Given the description of an element on the screen output the (x, y) to click on. 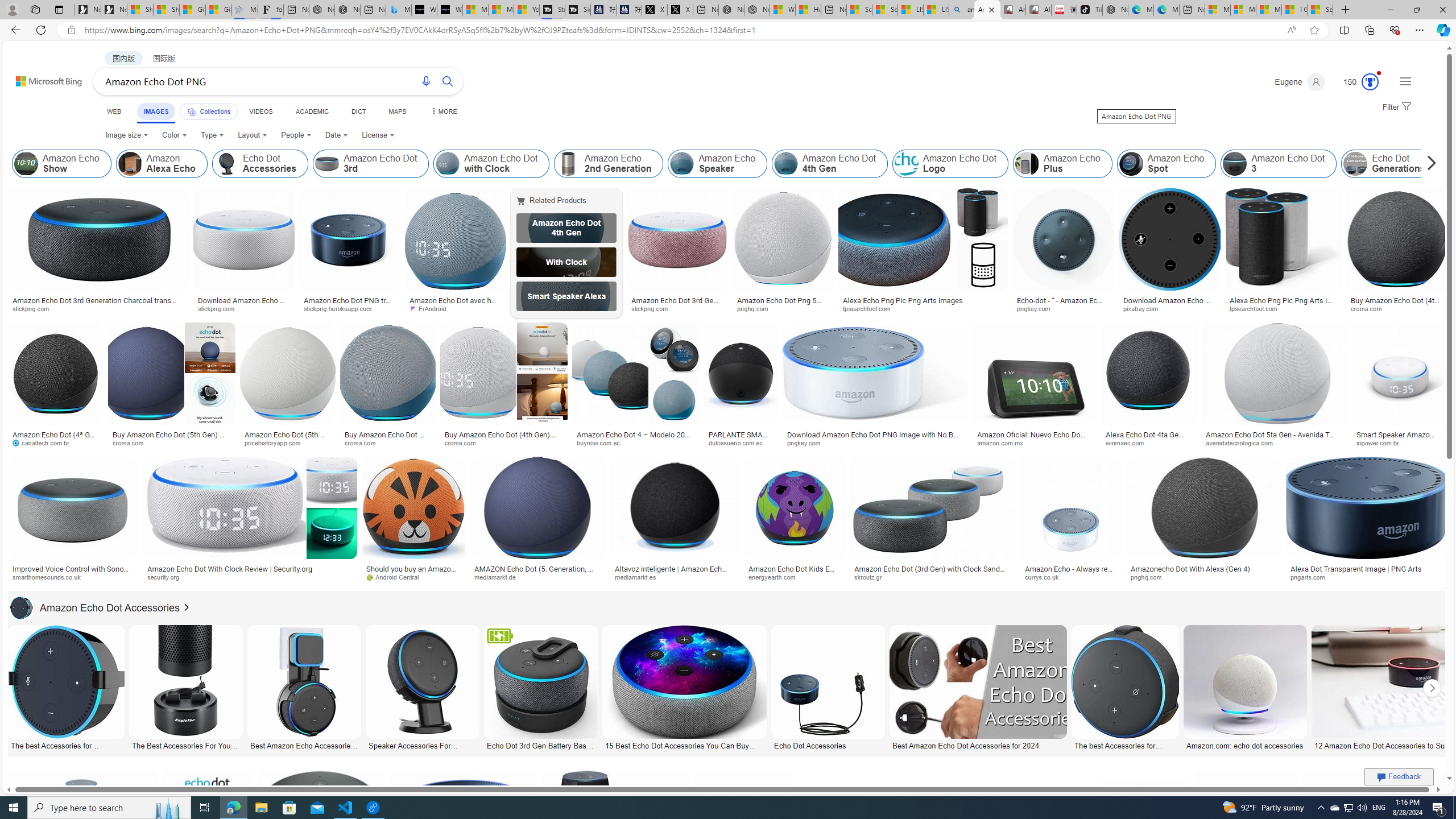
stickpng.com (677, 308)
energyearth.com (775, 576)
Amazon Alexa Echo (129, 163)
Nordace - Best Sellers (1114, 9)
croma.com (463, 442)
Amazon Echo Dot Logo (949, 163)
Date (336, 135)
